Given the description of an element on the screen output the (x, y) to click on. 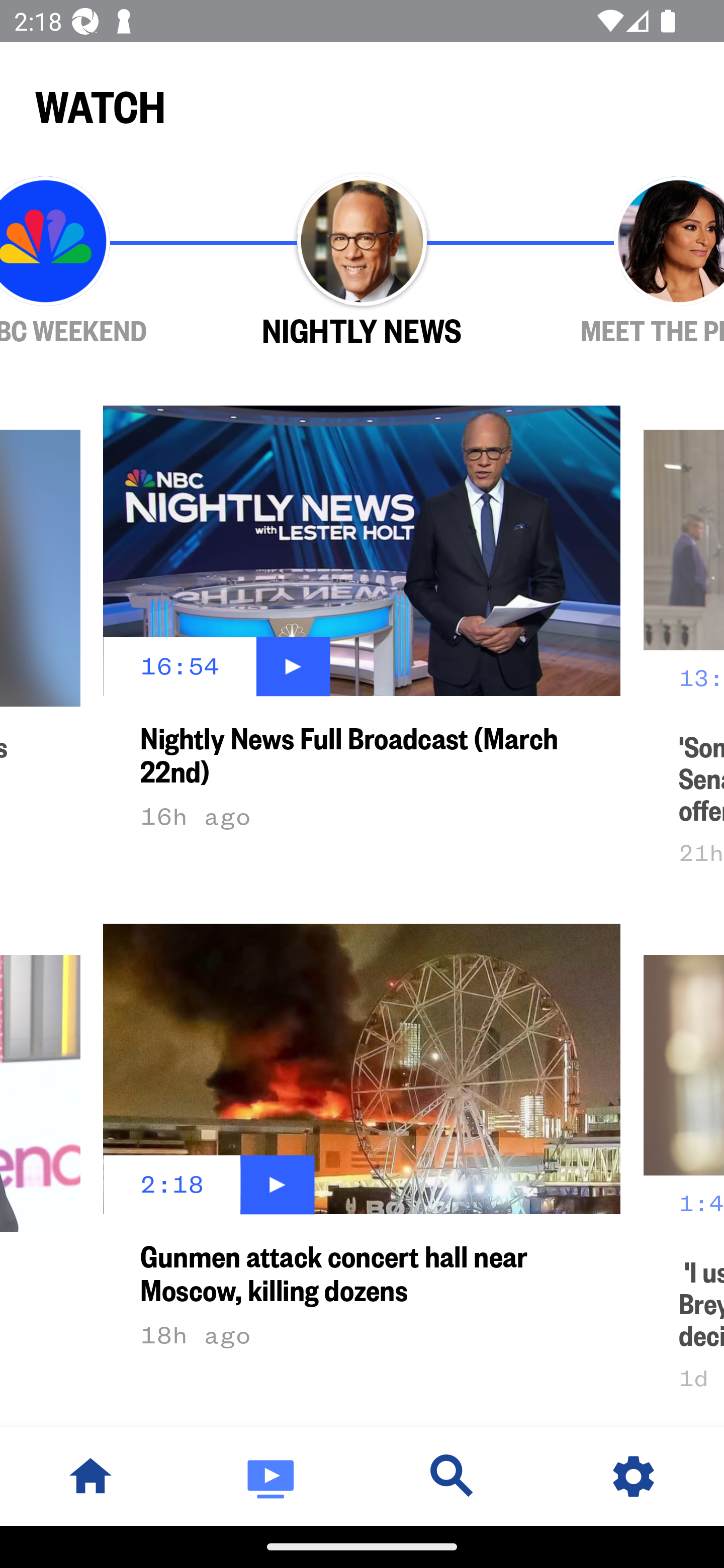
MSNBC WEEKEND (101, 261)
NIGHTLY NEWS (361, 261)
MEET THE PRESS (622, 261)
NBC News Home (90, 1475)
Discover (452, 1475)
Settings (633, 1475)
